Given the description of an element on the screen output the (x, y) to click on. 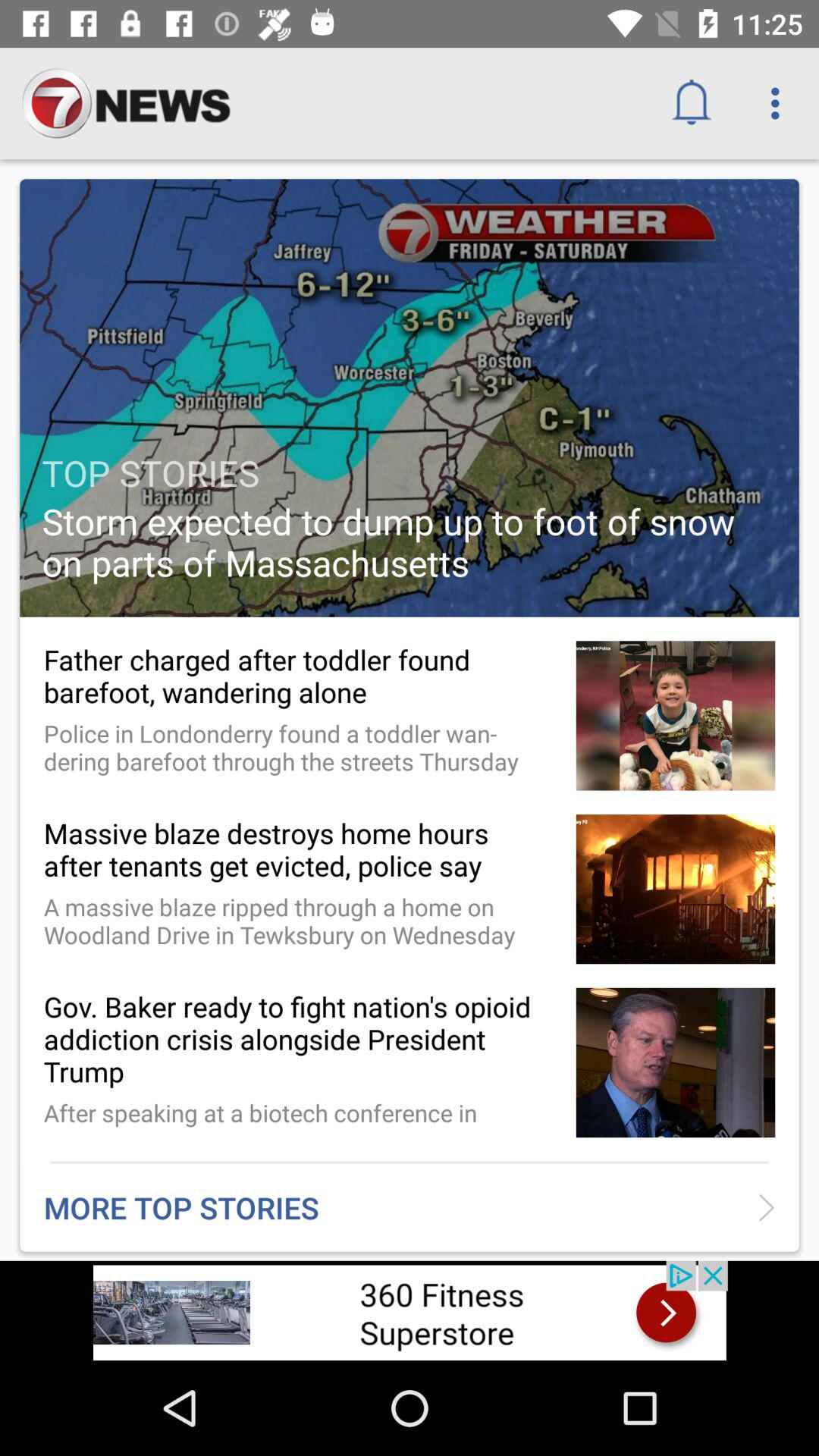
click on the last image which is above the more top stories (675, 1062)
click on the image which is right to the text massive blaze destroys home hours after tenants get evicted police say (675, 888)
click on the second image (675, 715)
